Given the description of an element on the screen output the (x, y) to click on. 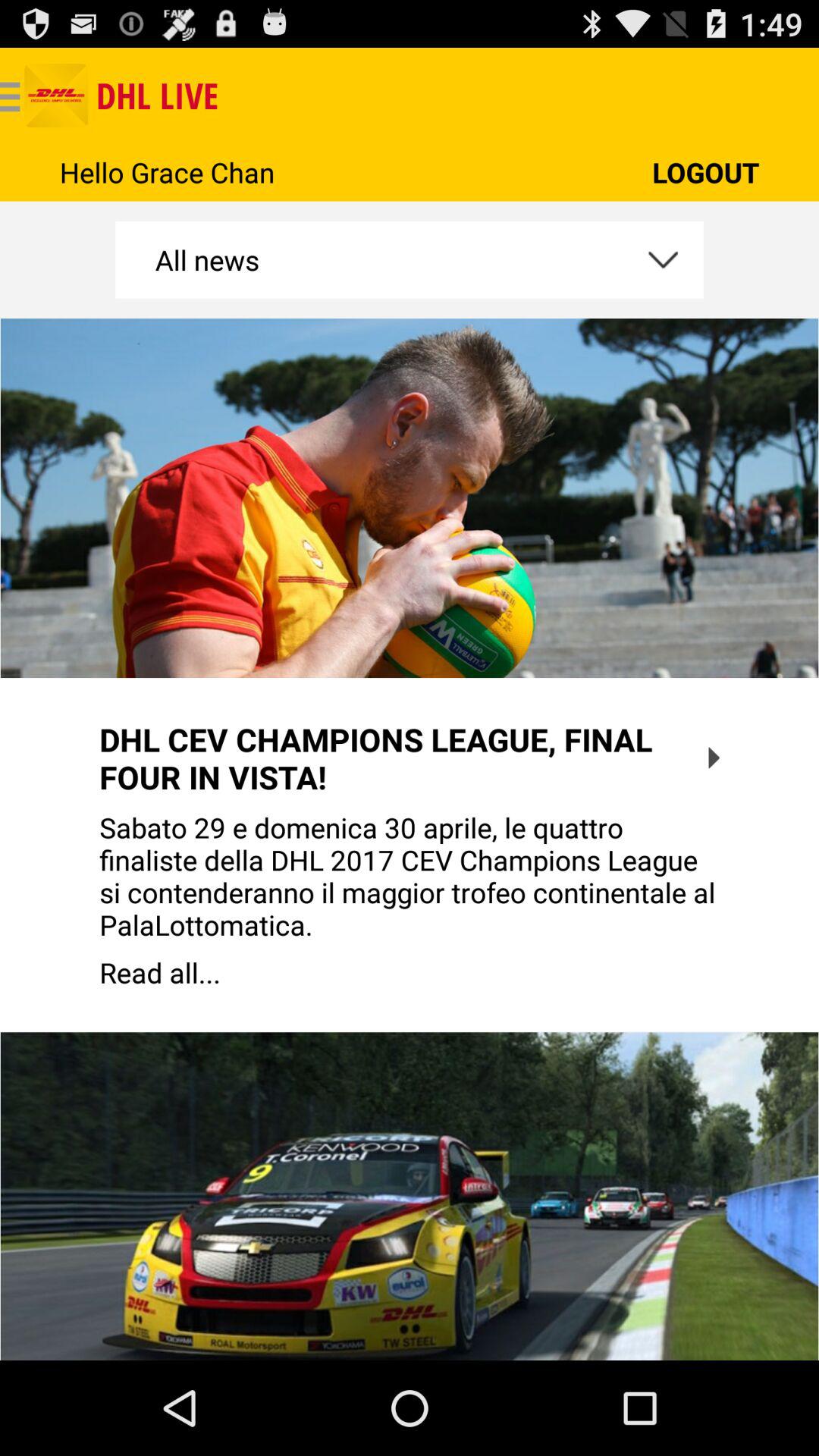
jump until sabato 29 e icon (409, 875)
